Given the description of an element on the screen output the (x, y) to click on. 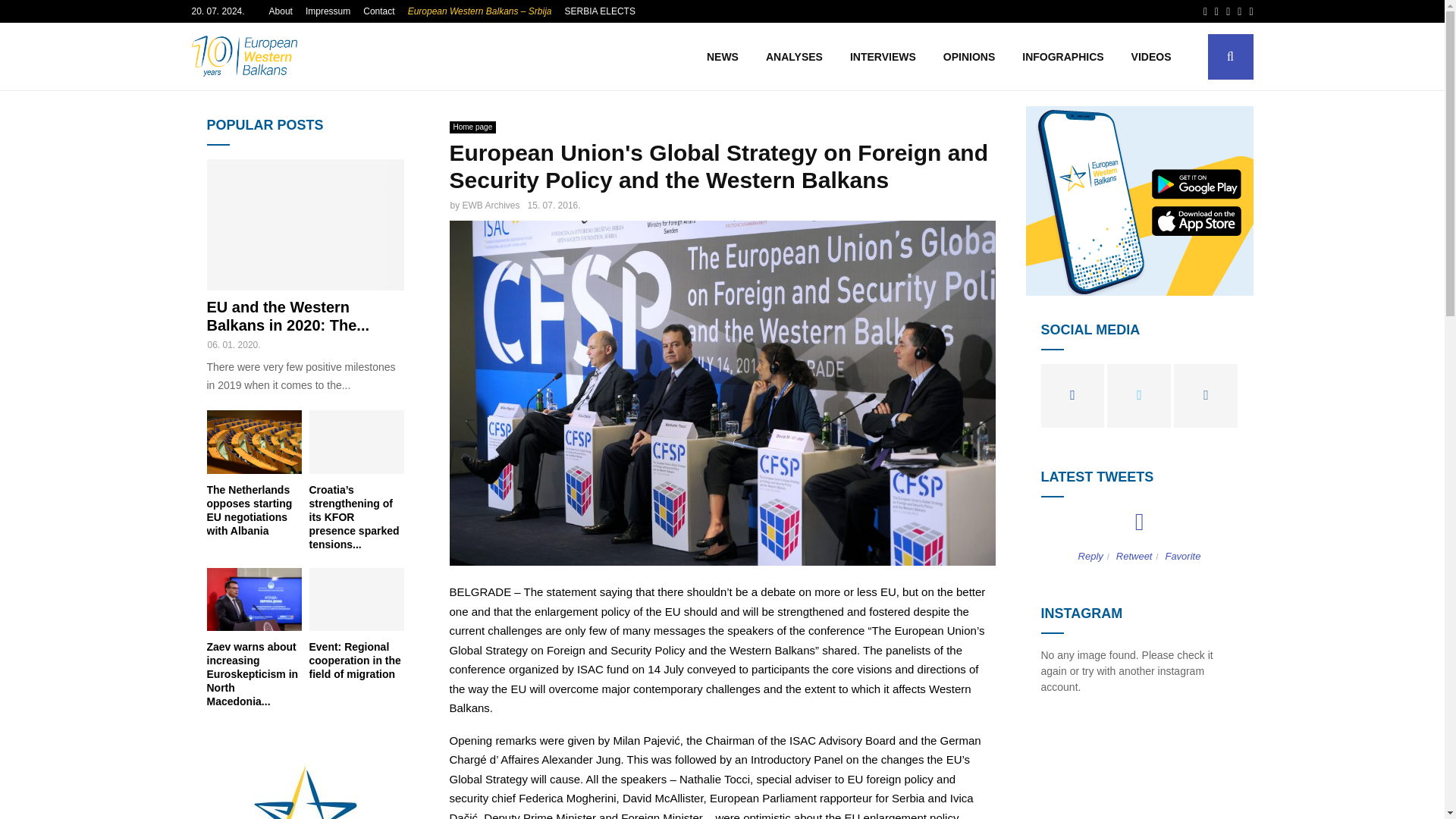
SERBIA ELECTS (599, 11)
INFOGRAPHICS (1062, 56)
About (280, 11)
EWB Archives (491, 204)
Contact (378, 11)
VIDEOS (1151, 56)
INTERVIEWS (882, 56)
OPINIONS (969, 56)
ANALYSES (793, 56)
NEWS (722, 56)
Home page (472, 127)
Impressum (327, 11)
